Given the description of an element on the screen output the (x, y) to click on. 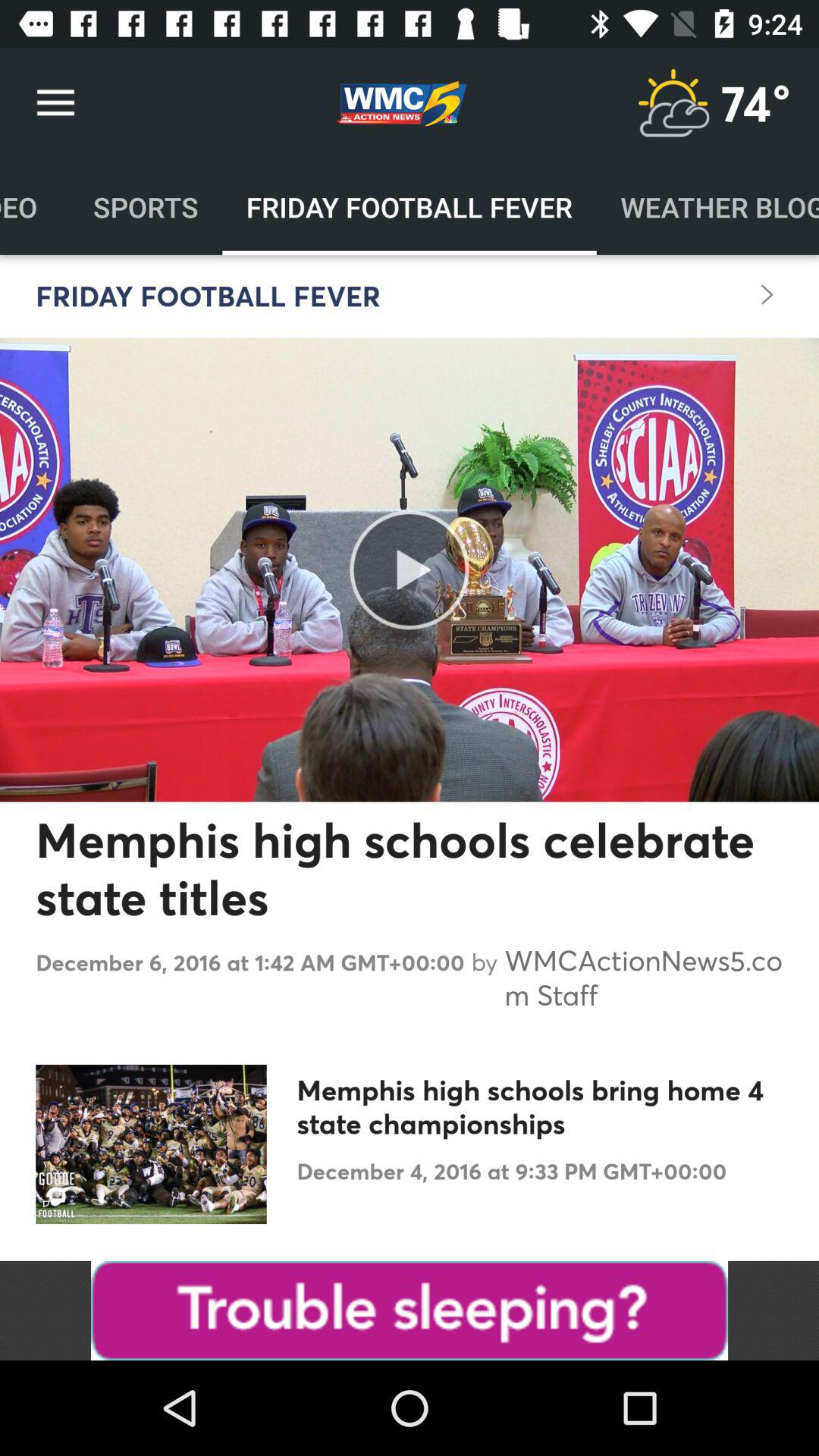
open advertisement (409, 1310)
